Given the description of an element on the screen output the (x, y) to click on. 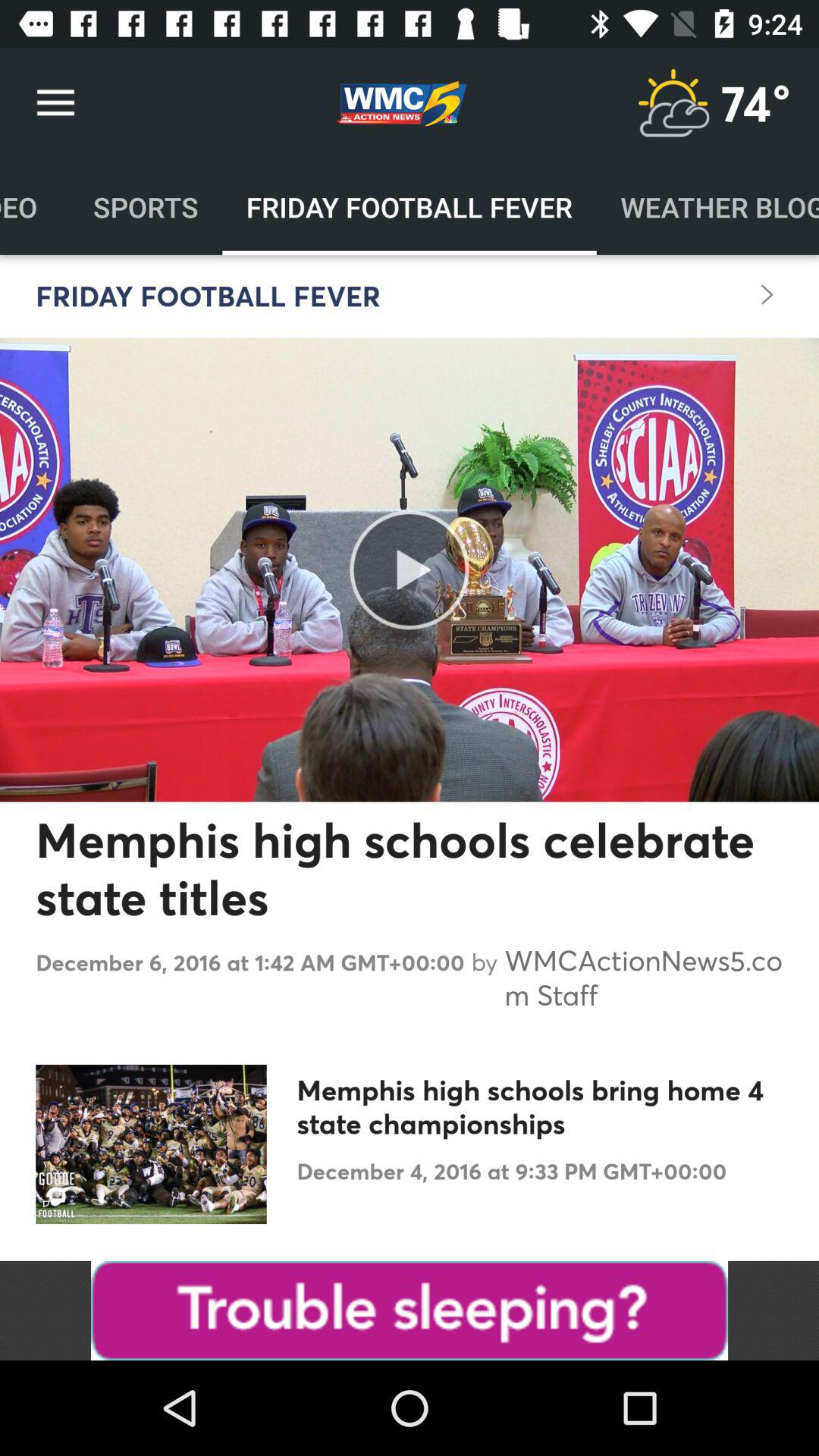
open advertisement (409, 1310)
